Given the description of an element on the screen output the (x, y) to click on. 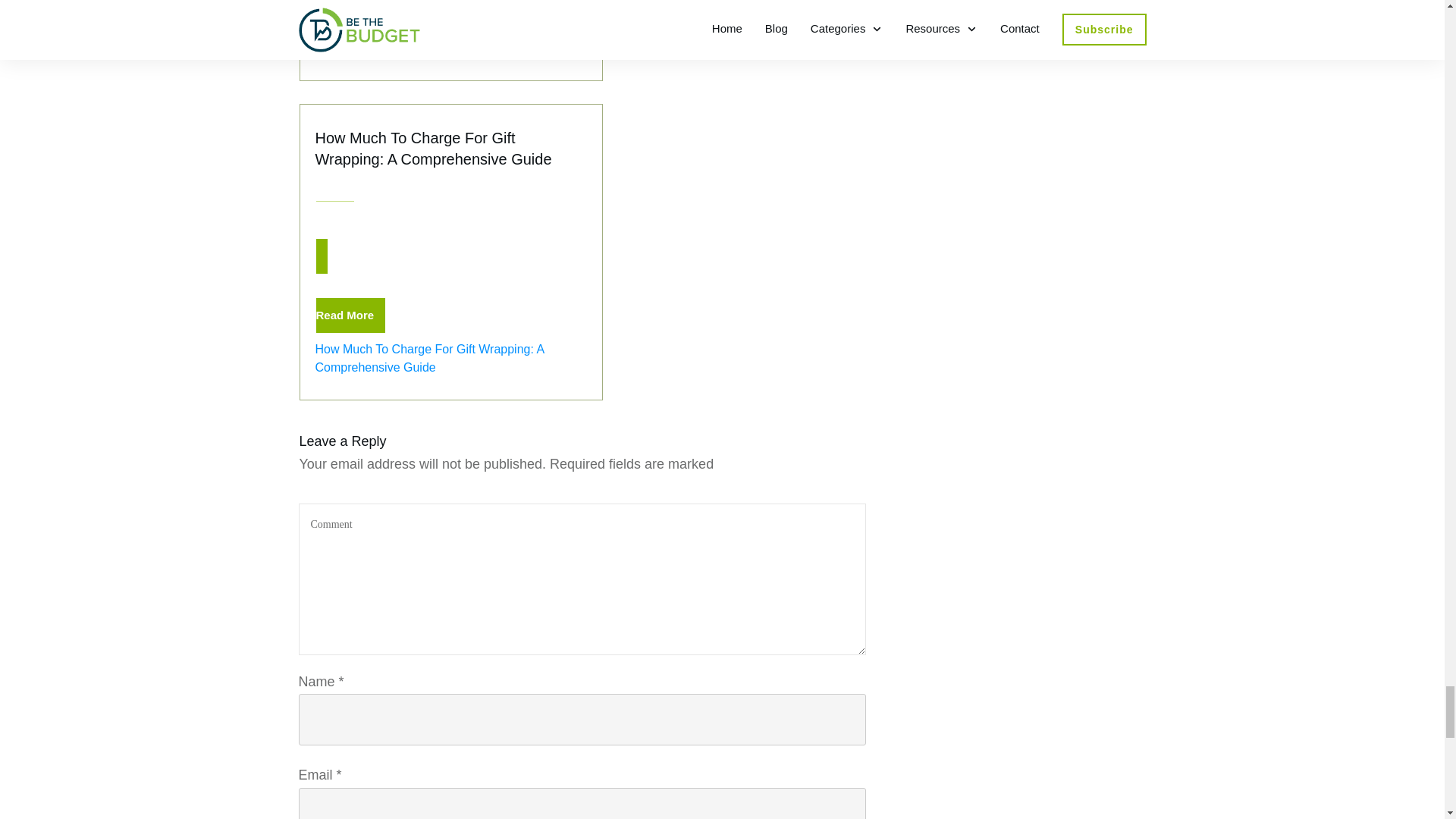
How Much To Charge For Gift Wrapping: A Comprehensive Guide (433, 148)
